Given the description of an element on the screen output the (x, y) to click on. 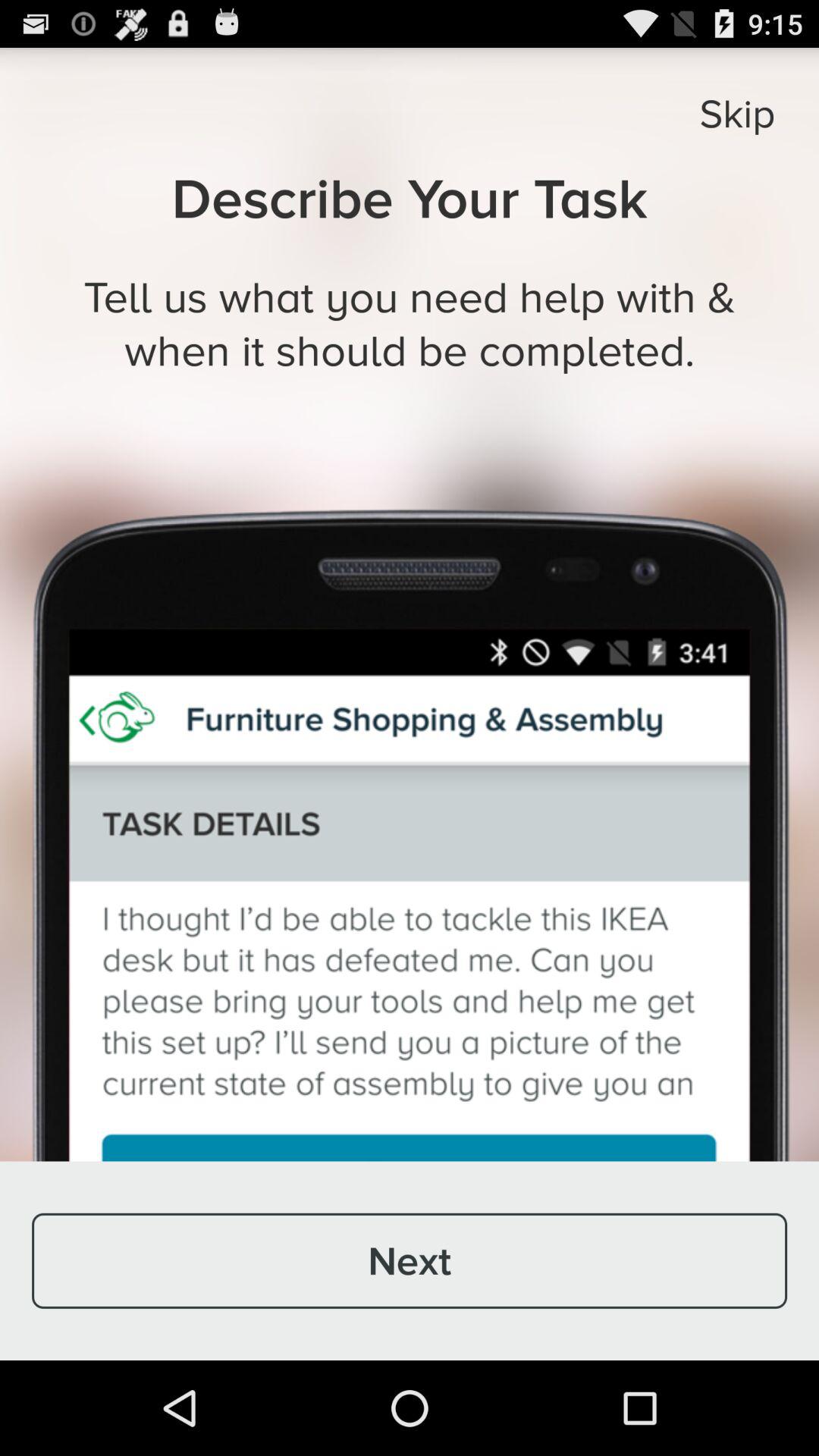
launch the icon at the top right corner (737, 113)
